Given the description of an element on the screen output the (x, y) to click on. 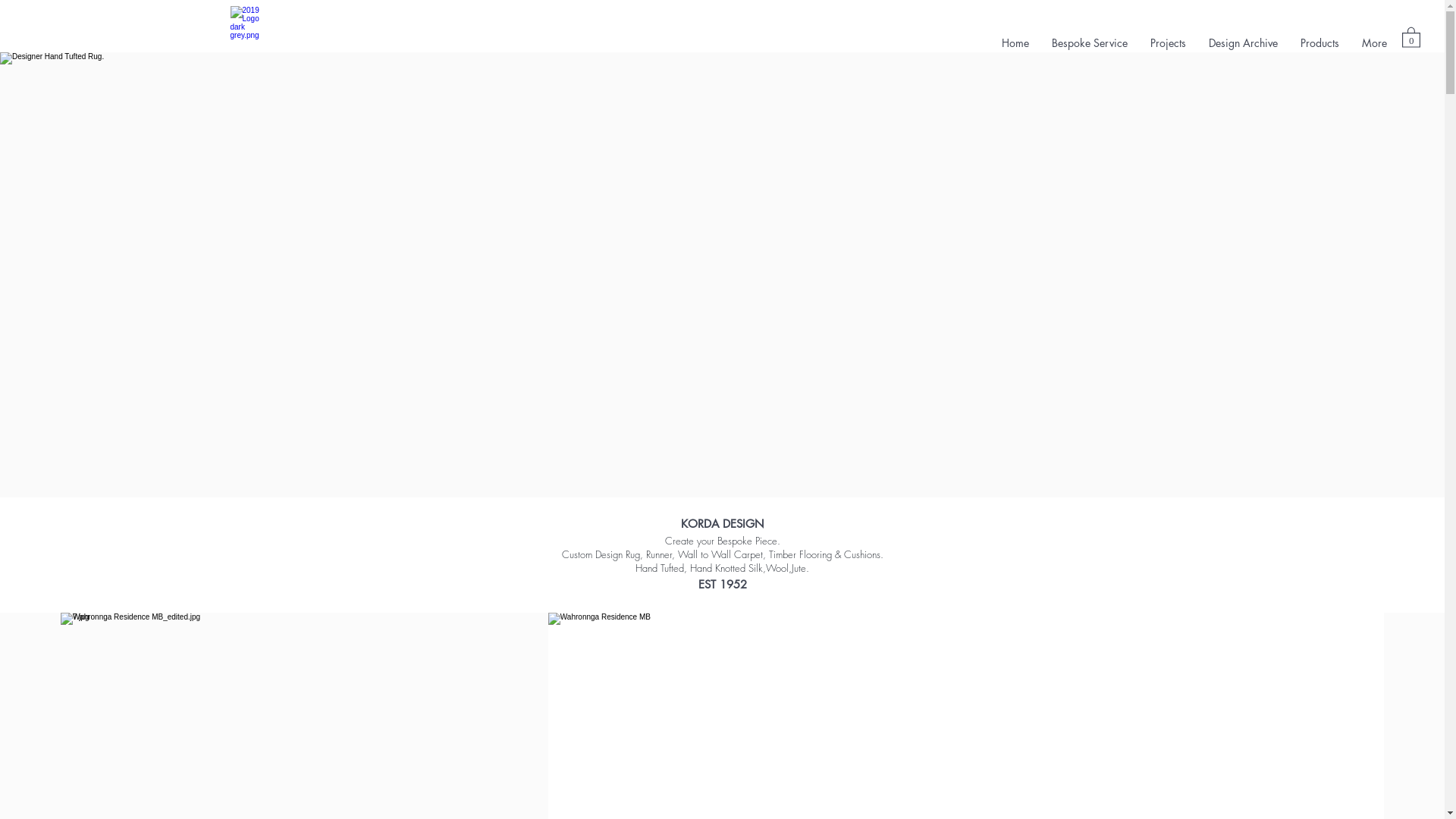
Design Archive Element type: text (1243, 43)
Bespoke Service Element type: text (1089, 43)
0 Element type: text (1411, 36)
Home Element type: text (1015, 43)
2019 Logo Black.png Element type: hover (250, 26)
